Given the description of an element on the screen output the (x, y) to click on. 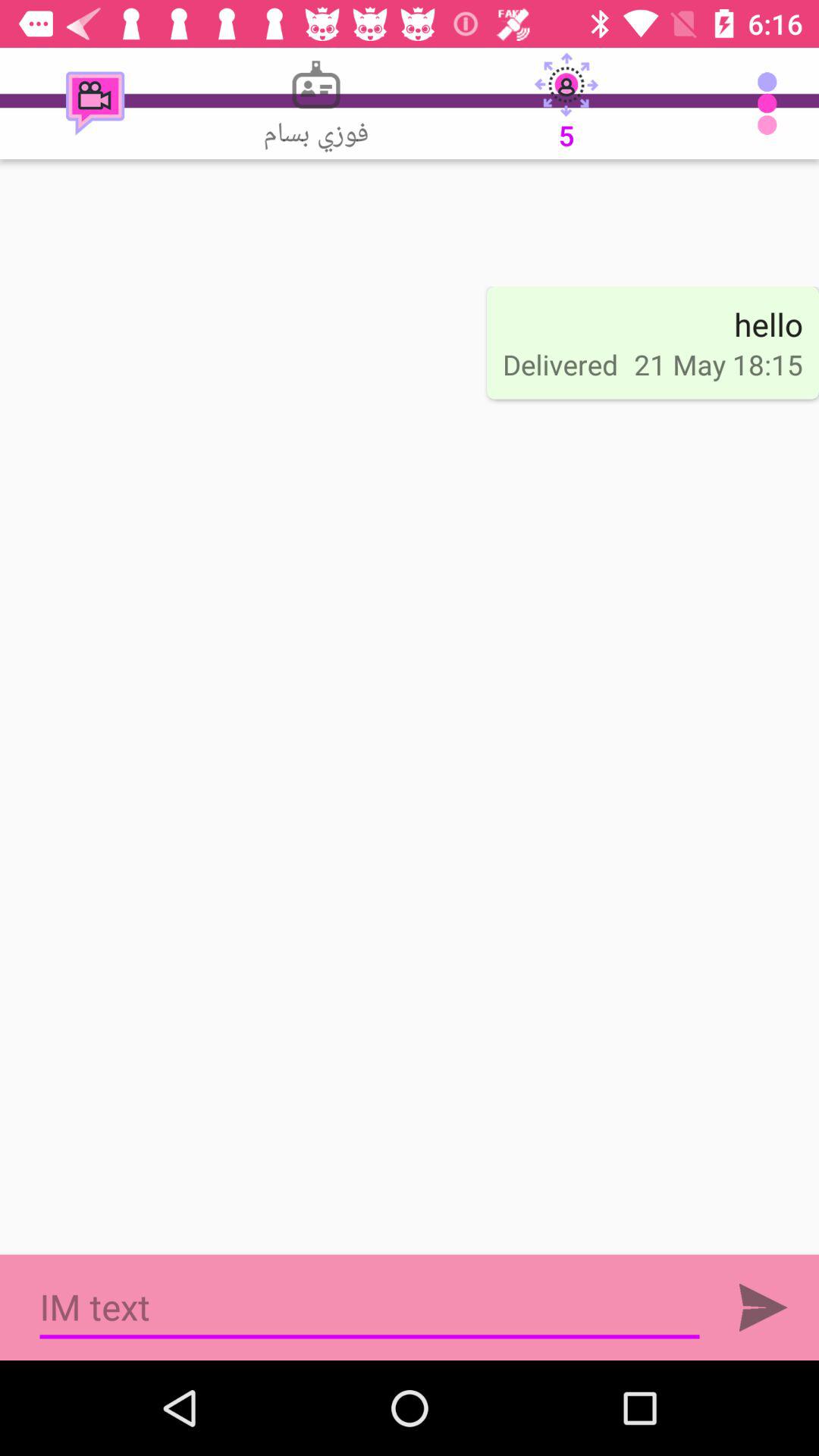
click item next to the delivered item (718, 364)
